Given the description of an element on the screen output the (x, y) to click on. 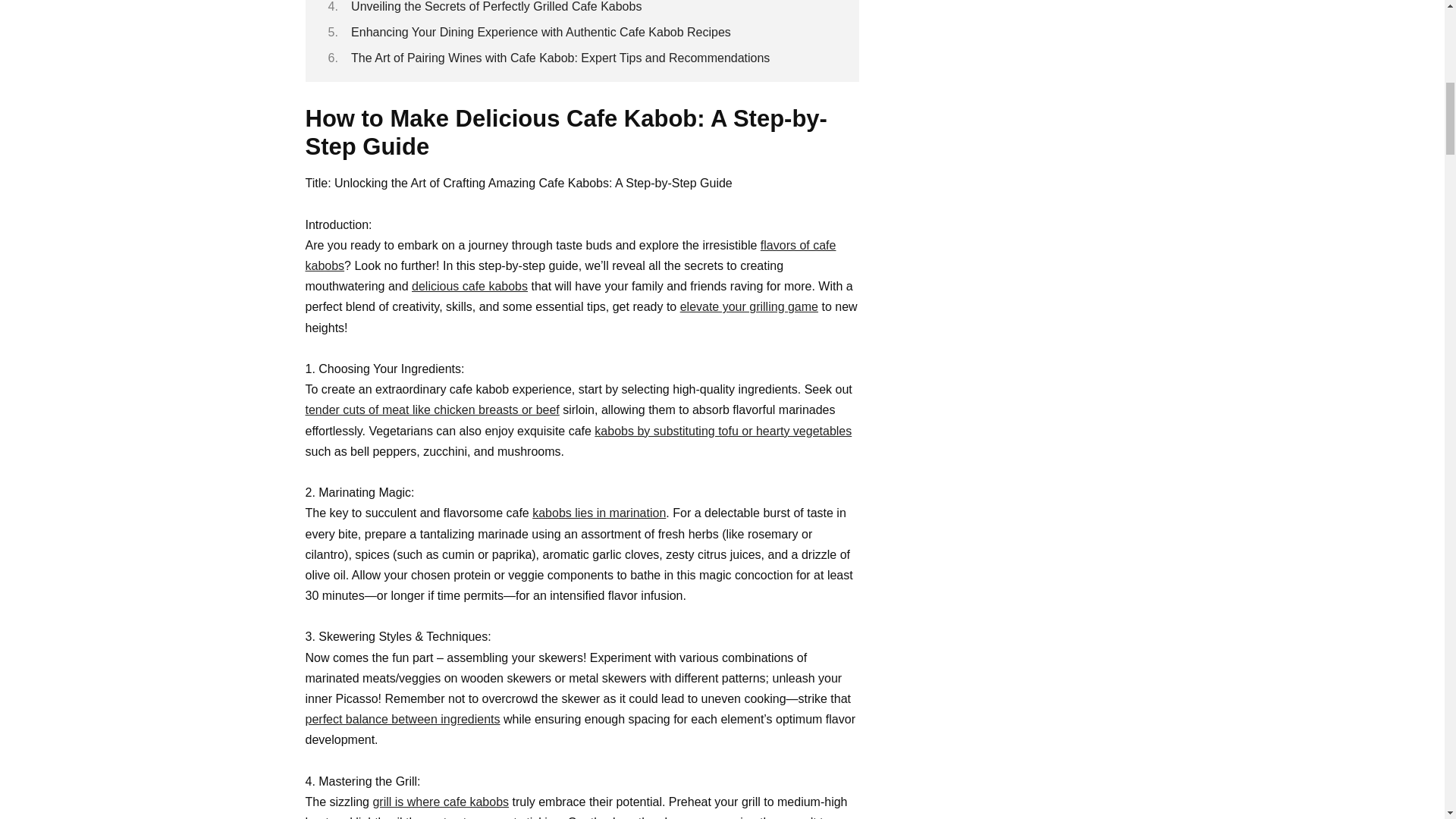
grill is where cafe kabobs (440, 801)
flavors of cafe kabobs (569, 255)
kabobs by substituting tofu or hearty vegetables (722, 431)
kabobs lies in marination (598, 512)
Unveiling the Secrets of Perfectly Grilled Cafe Kabobs (496, 6)
delicious cafe kabobs (469, 286)
elevate your grilling game (748, 306)
perfect balance between ingredients (401, 718)
tender cuts of meat like chicken breasts or beef (431, 409)
